Given the description of an element on the screen output the (x, y) to click on. 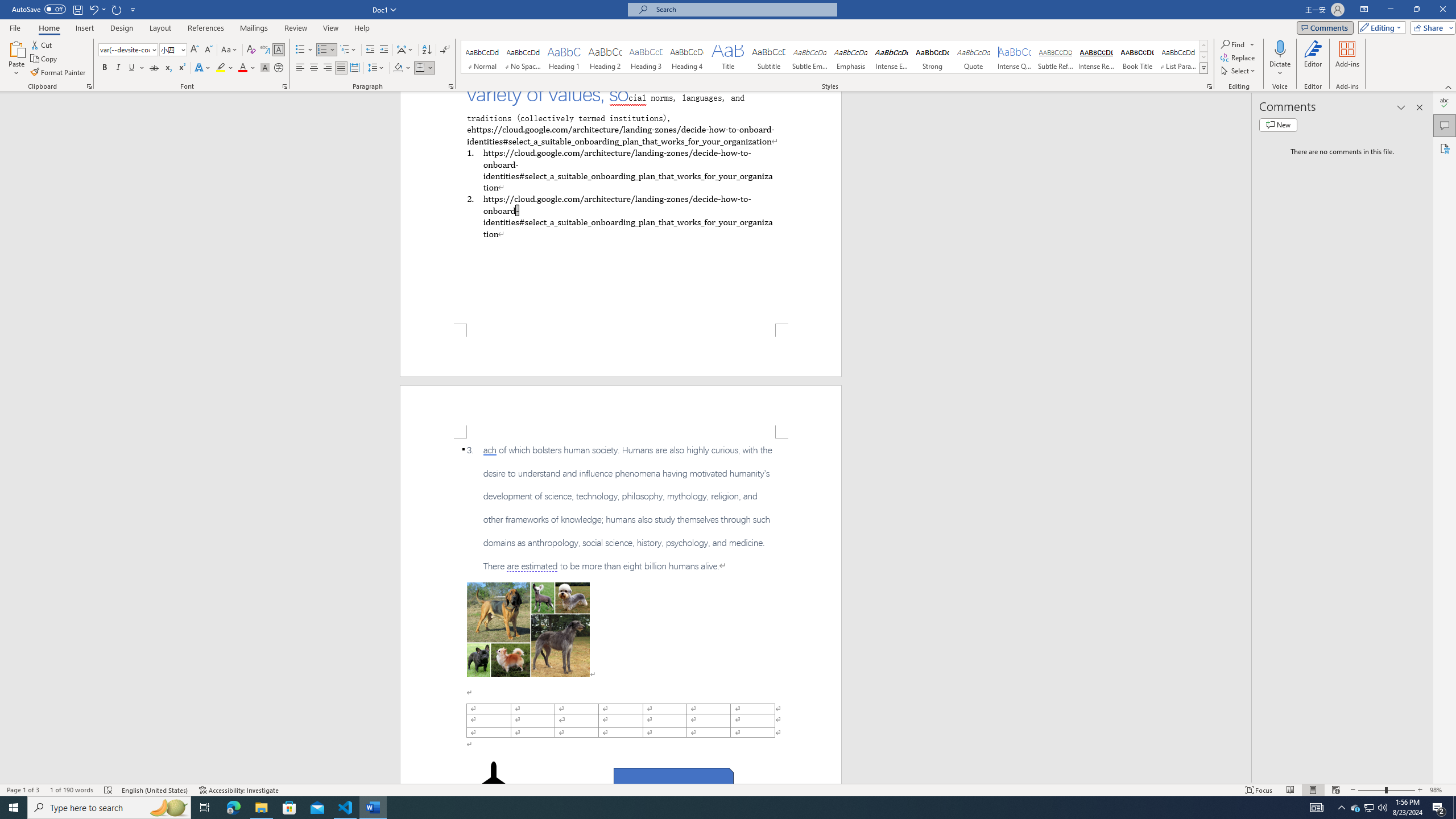
Subtle Emphasis (809, 56)
Spelling and Grammar Check Errors (108, 790)
Dictate (1280, 58)
Read Mode (1290, 790)
Ribbon Display Options (1364, 9)
Print Layout (1312, 790)
Quote (973, 56)
Insert (83, 28)
Web Layout (1335, 790)
Quick Access Toolbar (74, 9)
Intense Emphasis (891, 56)
Zoom In (1420, 790)
Undo Paragraph Alignment (96, 9)
Close pane (1419, 107)
